Given the description of an element on the screen output the (x, y) to click on. 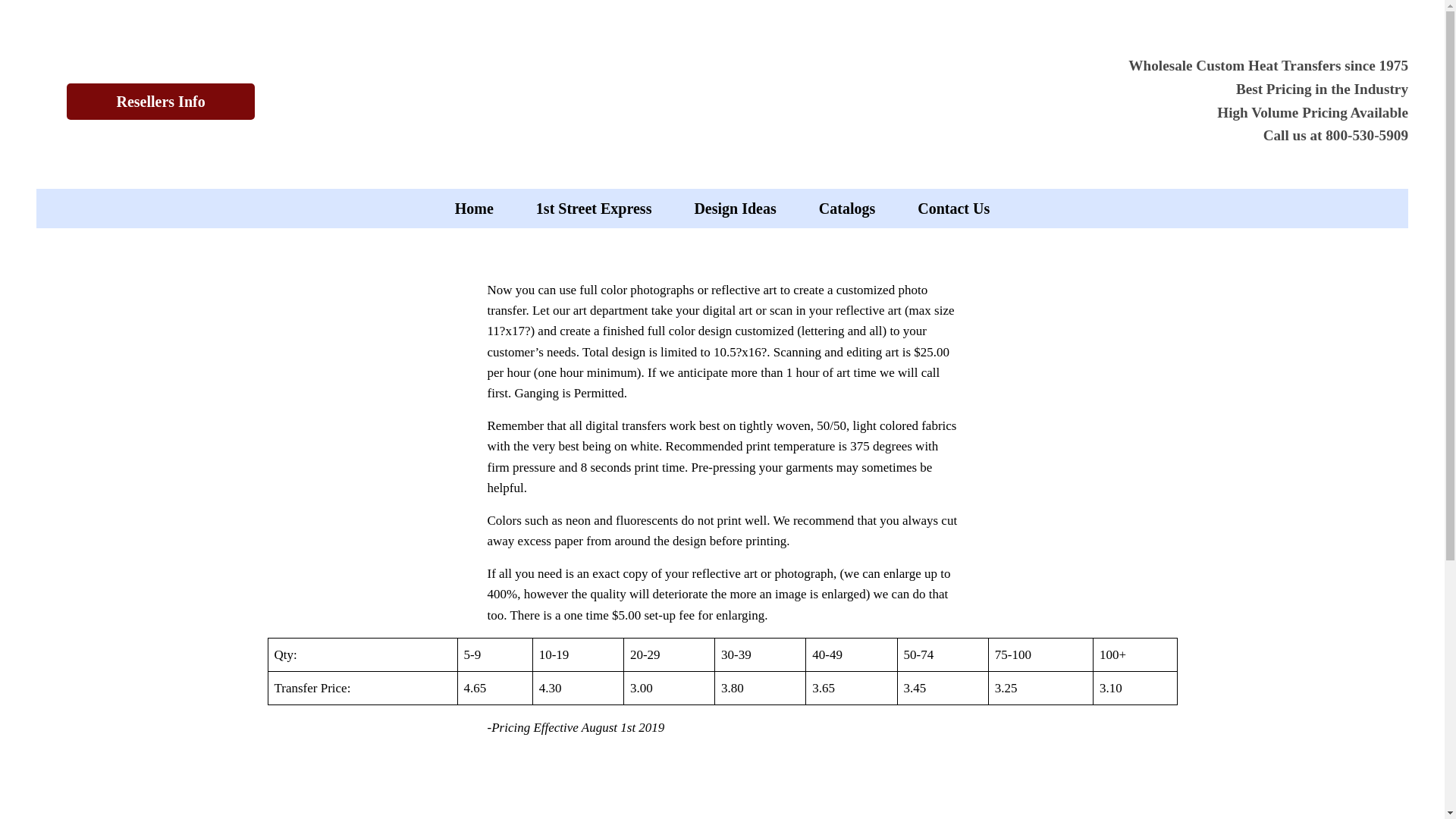
Resellers Info (160, 101)
1st Street Express (593, 208)
Home (473, 208)
Contact Us (953, 208)
Design Ideas (734, 208)
Catalogs (846, 208)
